Given the description of an element on the screen output the (x, y) to click on. 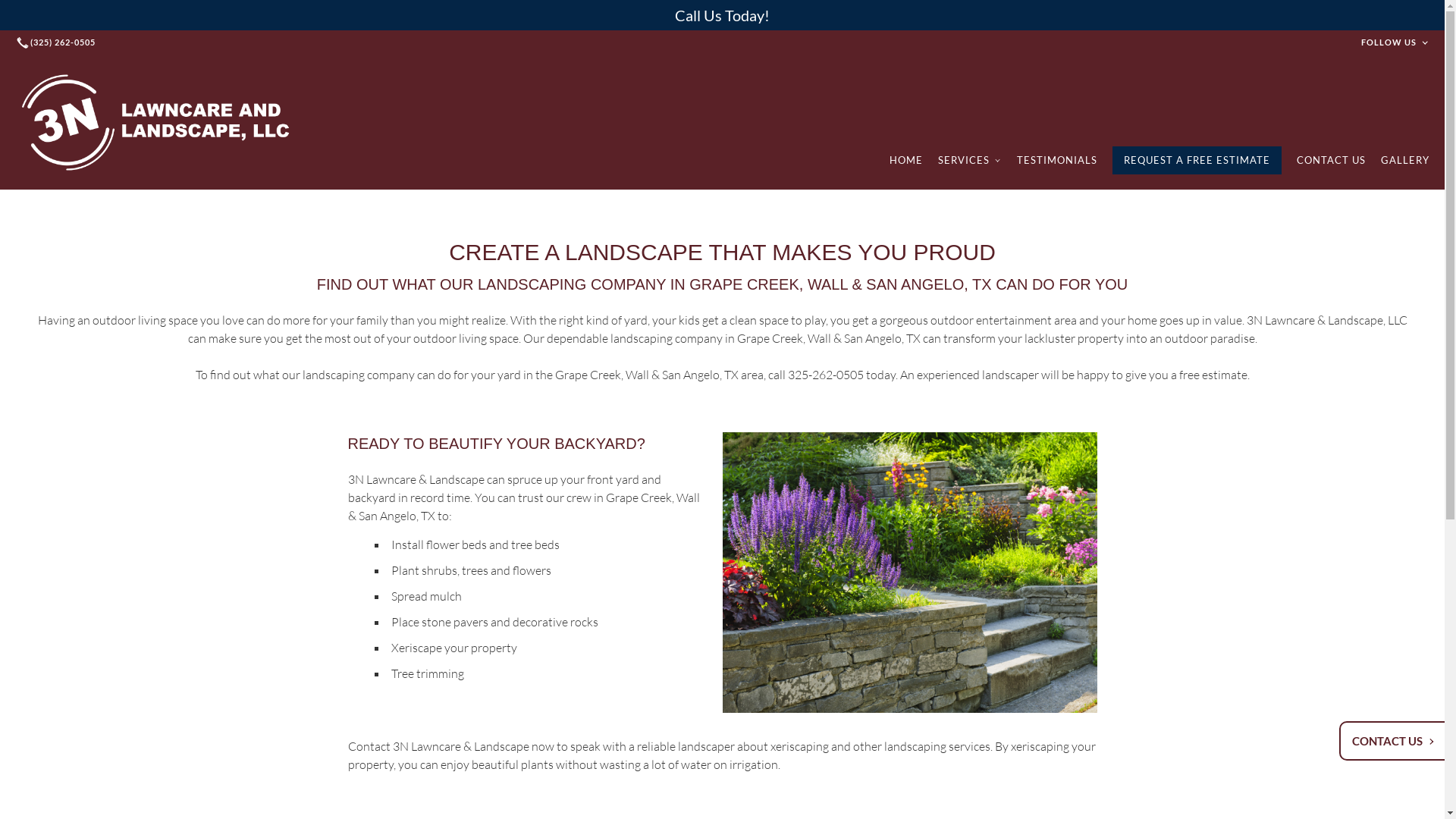
TESTIMONIALS Element type: text (1056, 160)
CONTACT US Element type: text (1393, 740)
REQUEST A FREE ESTIMATE Element type: text (1196, 160)
GALLERY Element type: text (1404, 160)
(325) 262-0505 Element type: hover (57, 41)
HOME Element type: text (905, 160)
CONTACT US Element type: text (1330, 160)
Call Us Today! Element type: text (721, 15)
